Given the description of an element on the screen output the (x, y) to click on. 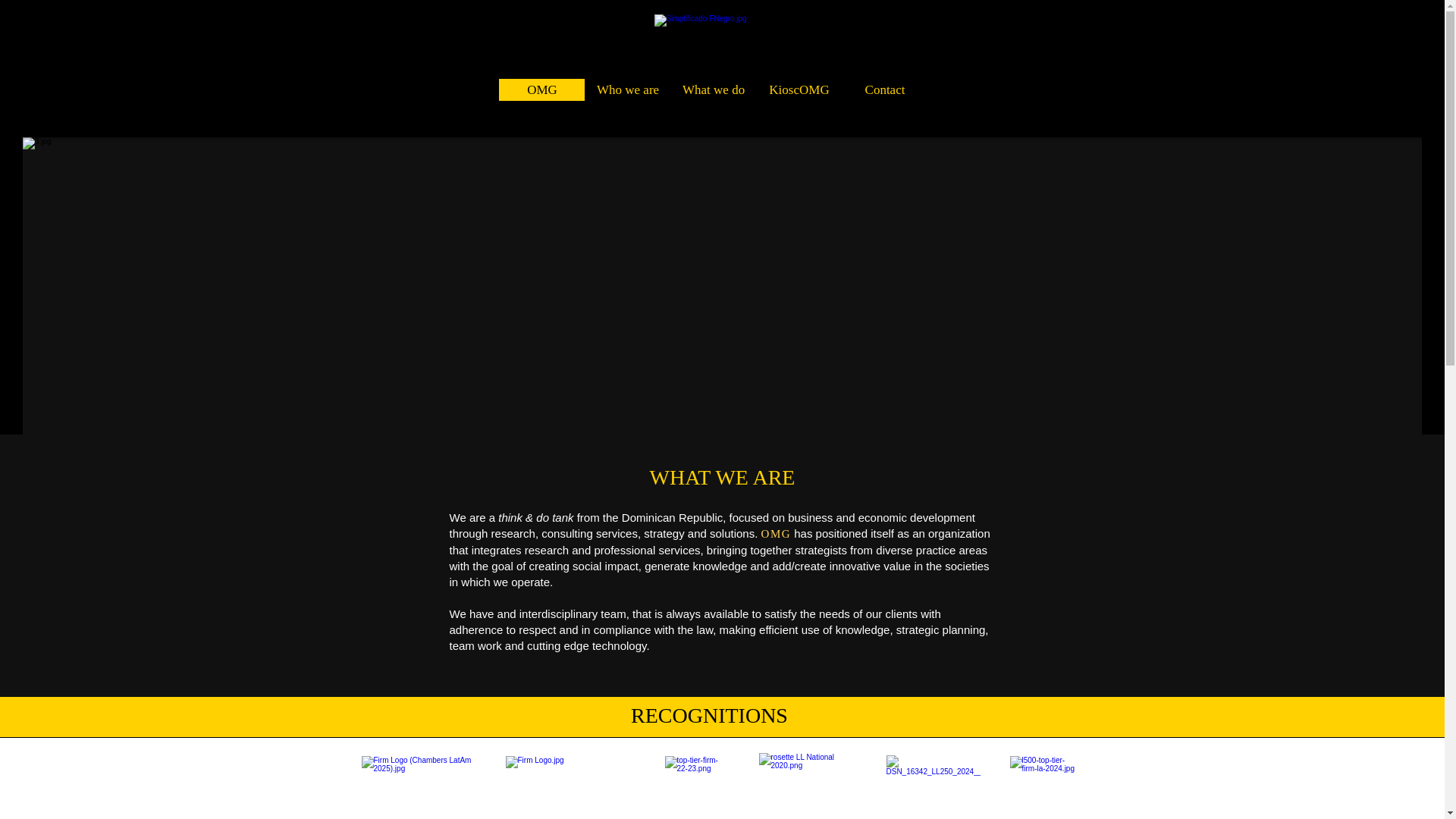
Who we are (627, 89)
KioscOMG (798, 89)
OMG (542, 89)
Contact (884, 89)
What we do (712, 89)
